Given the description of an element on the screen output the (x, y) to click on. 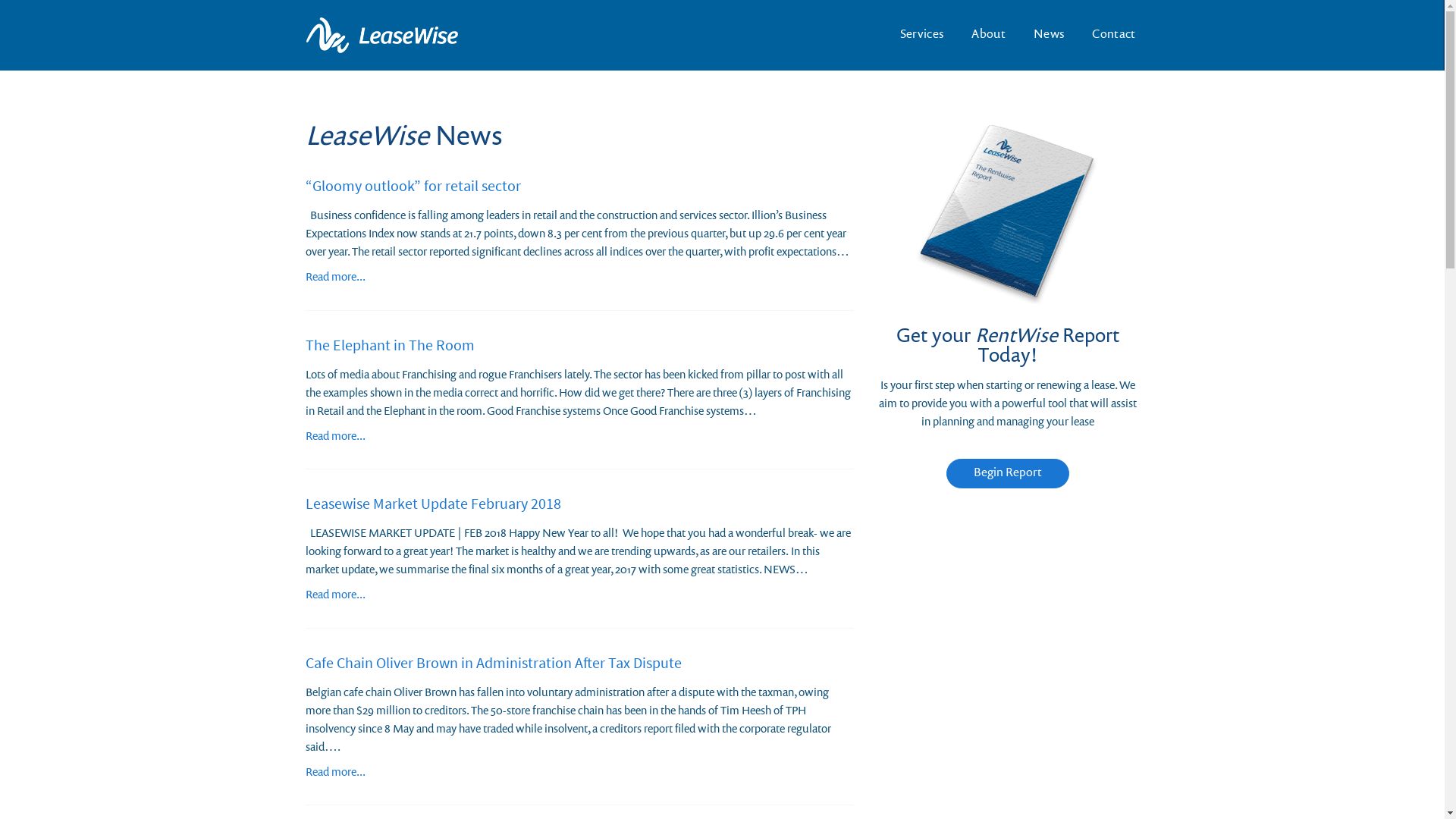
Services Element type: text (922, 34)
News Element type: text (1048, 34)
About Element type: text (988, 34)
Contact Element type: text (1107, 34)
Begin Report Element type: text (1007, 473)
